Given the description of an element on the screen output the (x, y) to click on. 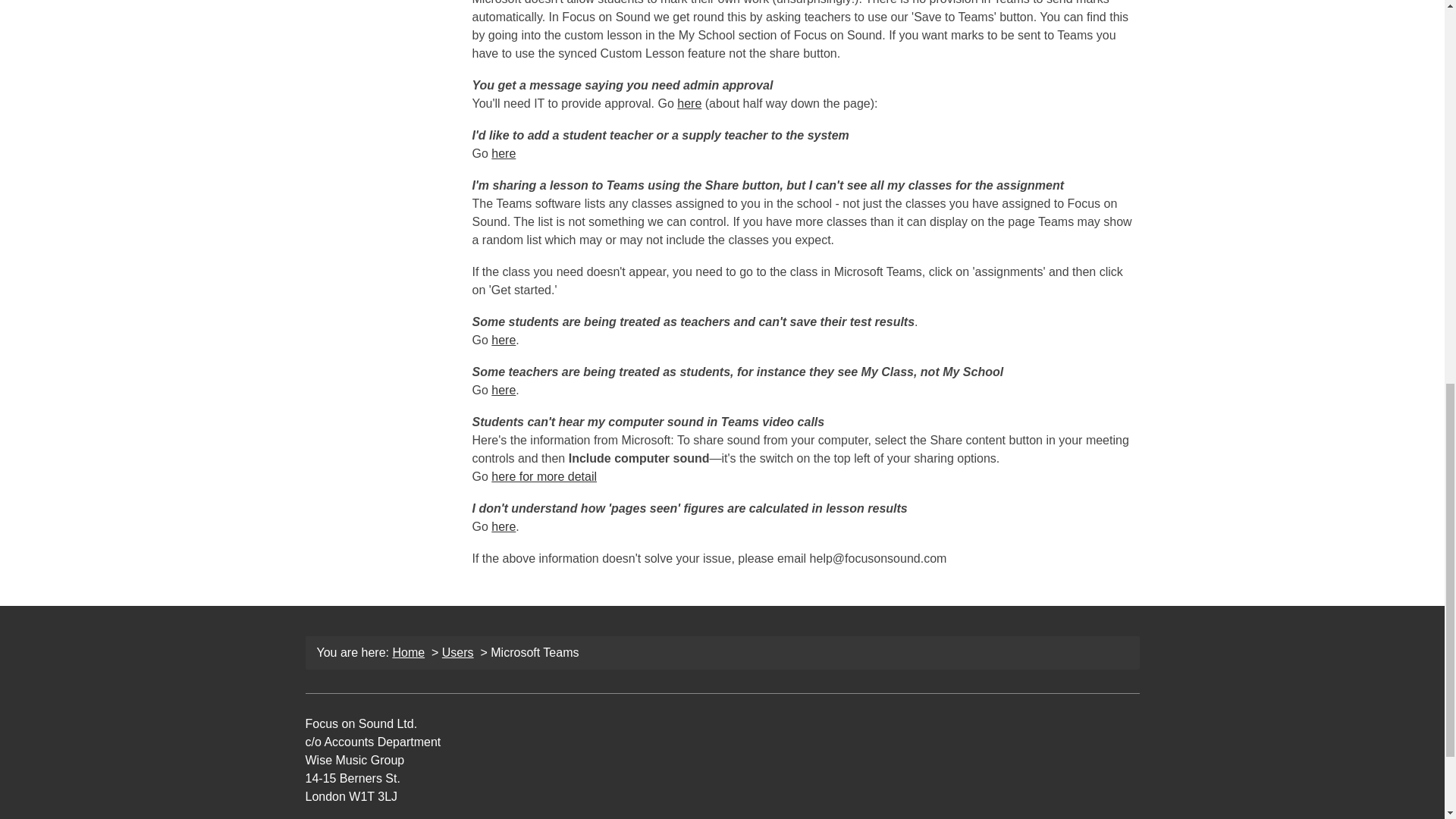
here (689, 103)
here (503, 153)
